Given the description of an element on the screen output the (x, y) to click on. 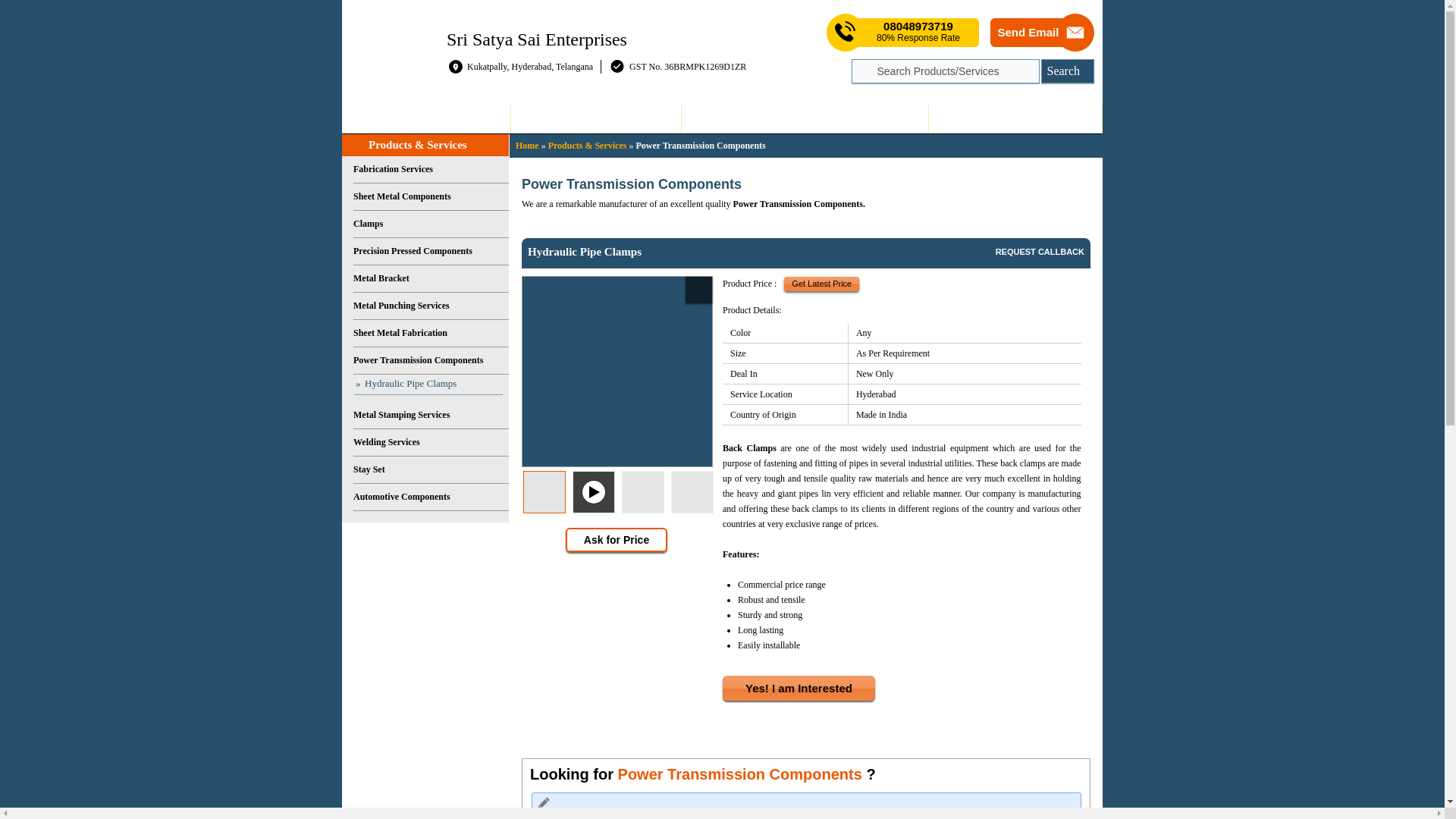
Sheet Metal Components (430, 196)
Power Transmission Components (430, 360)
Stay Set (430, 470)
Clamps (430, 224)
Sheet Metal Fabrication (430, 333)
Home (426, 118)
Precision Pressed Components (430, 251)
Send SMS Free (917, 32)
Metal Bracket (430, 278)
Welding Services (430, 442)
